Given the description of an element on the screen output the (x, y) to click on. 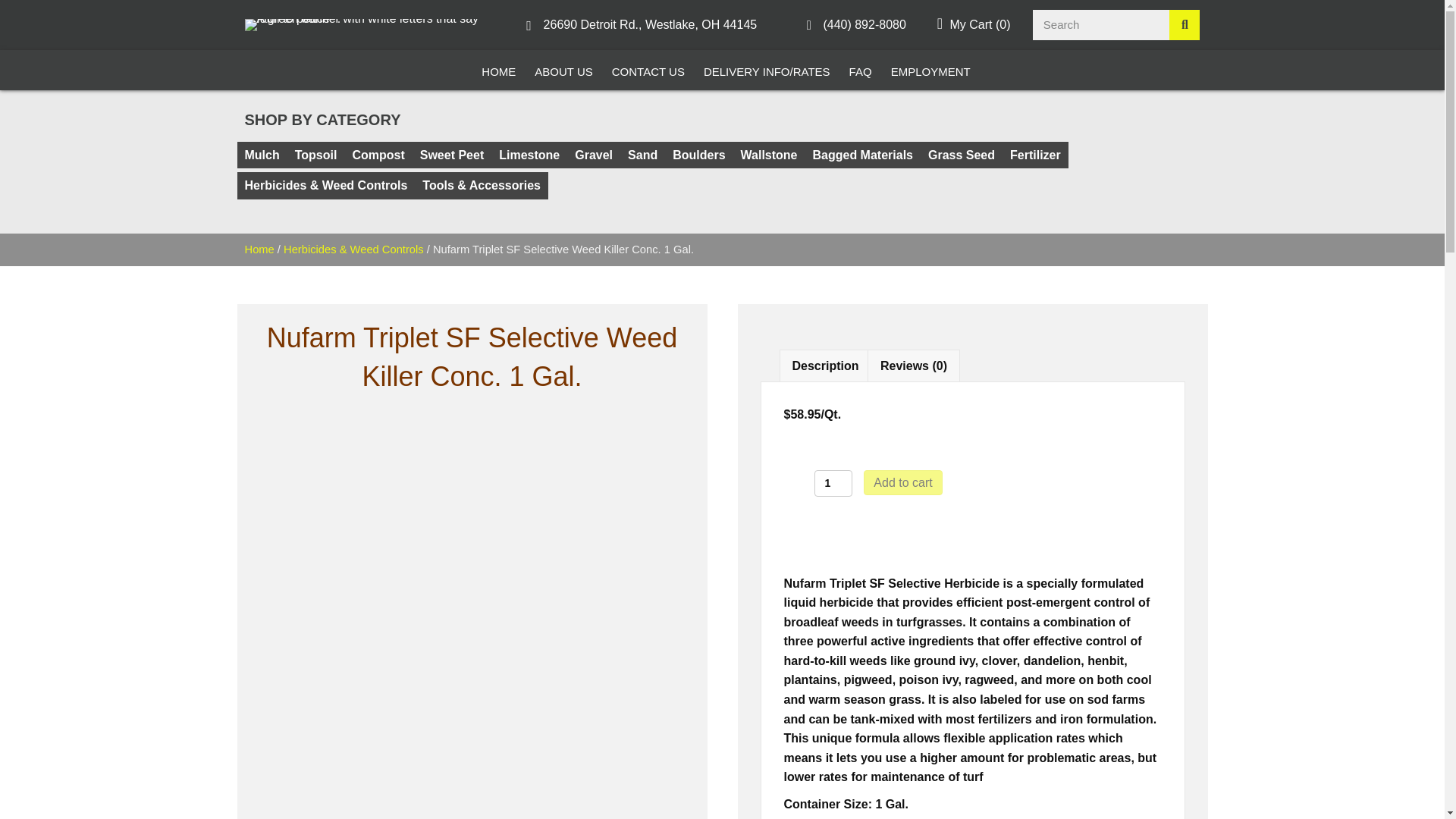
Fertilizer (1035, 154)
Home (258, 249)
HOME (498, 69)
Bagged Materials (862, 154)
Start shopping (973, 24)
EMPLOYMENT (930, 69)
ABOUT US (563, 69)
EARTH TO YOU LOGO WHITE (368, 24)
Sand (642, 154)
CONTACT US (648, 69)
